Given the description of an element on the screen output the (x, y) to click on. 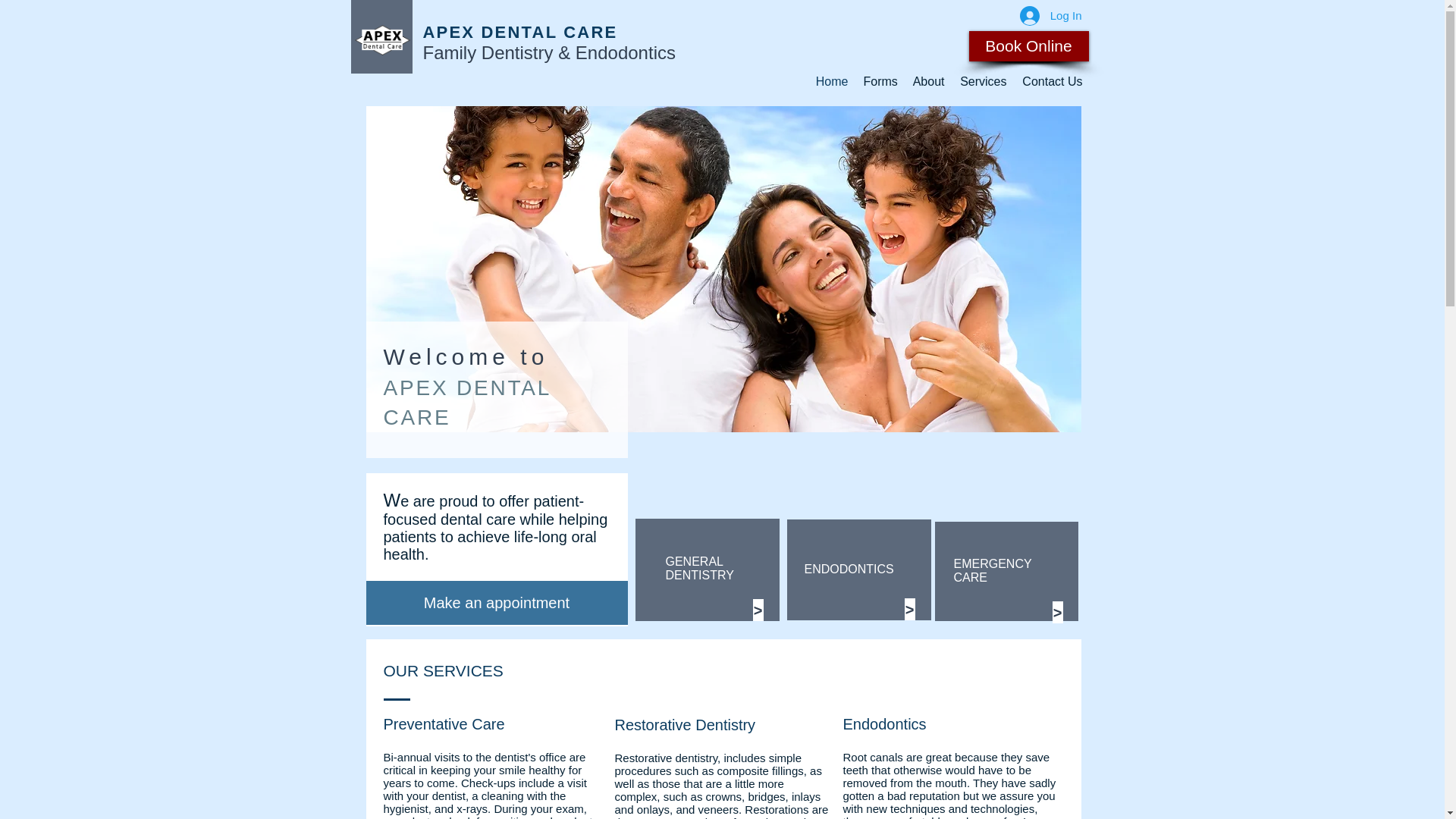
Forms (880, 81)
Home (832, 81)
Make an appointment (496, 602)
Contact Us (1052, 81)
Book Online (1029, 46)
GENERAL DENTISTRY (699, 568)
Services (983, 81)
Log In (1051, 15)
EMERGENCY CARE (992, 570)
ENDODONTICS (848, 568)
